Given the description of an element on the screen output the (x, y) to click on. 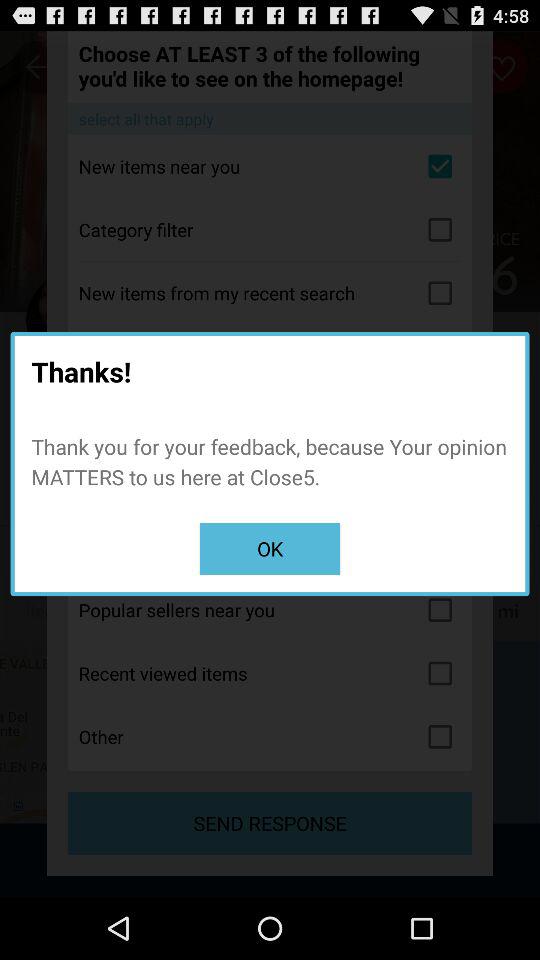
click the icon below the thank you for icon (269, 548)
